Given the description of an element on the screen output the (x, y) to click on. 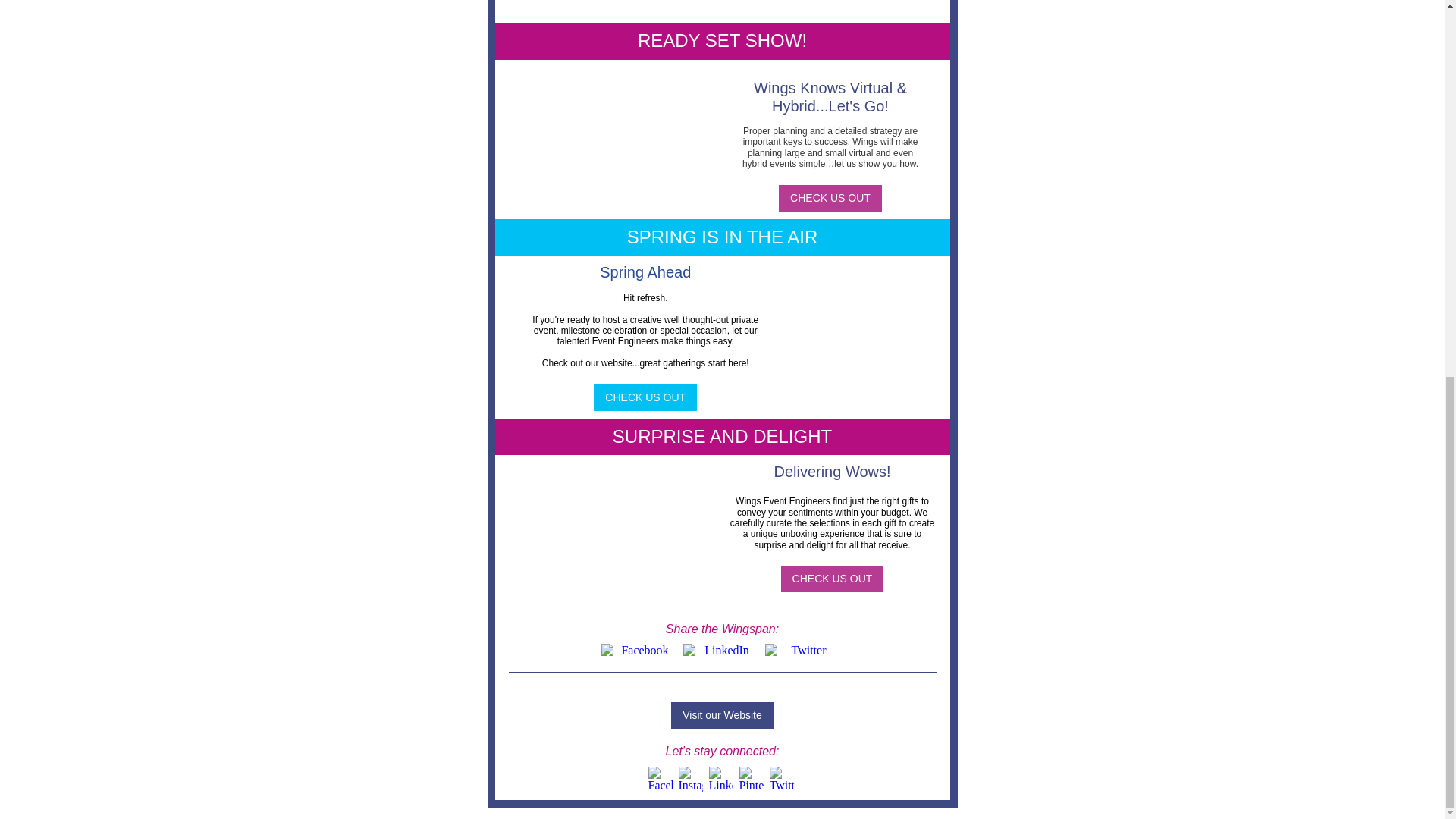
Visit our Website (721, 715)
CHECK US OUT (645, 397)
CHECK US OUT (832, 578)
CHECK US OUT (830, 197)
